Given the description of an element on the screen output the (x, y) to click on. 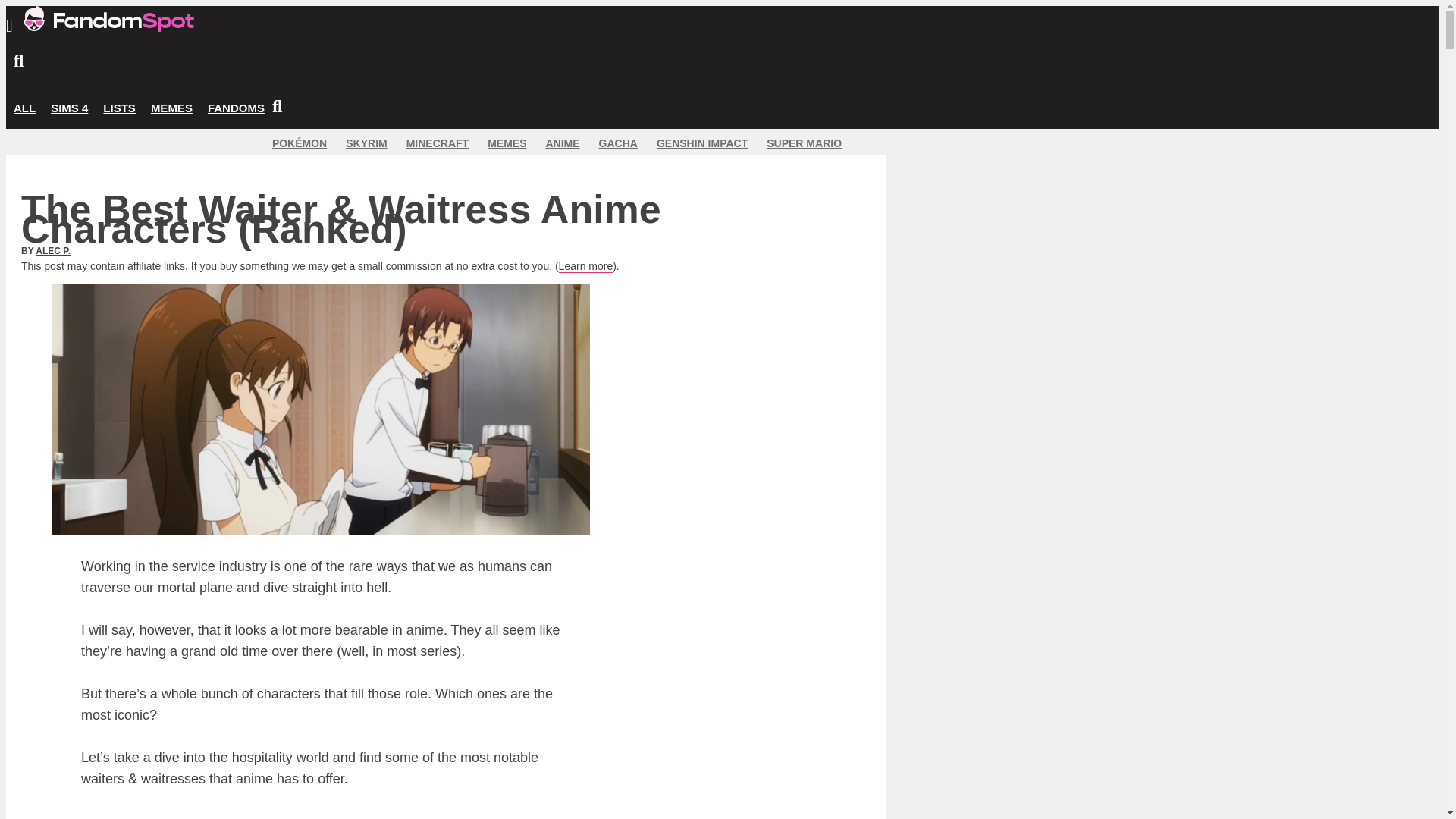
FandomSpot (108, 27)
SKYRIM (366, 143)
FANDOMS (236, 108)
MEMES (171, 108)
GACHA (617, 143)
MEMES (506, 143)
SUPER MARIO (804, 143)
MINECRAFT (437, 143)
LISTS (119, 108)
GENSHIN IMPACT (702, 143)
ALEC P. (51, 250)
Learn more (585, 266)
SIMS 4 (69, 108)
ANIME (561, 143)
FandomSpot (108, 18)
